Given the description of an element on the screen output the (x, y) to click on. 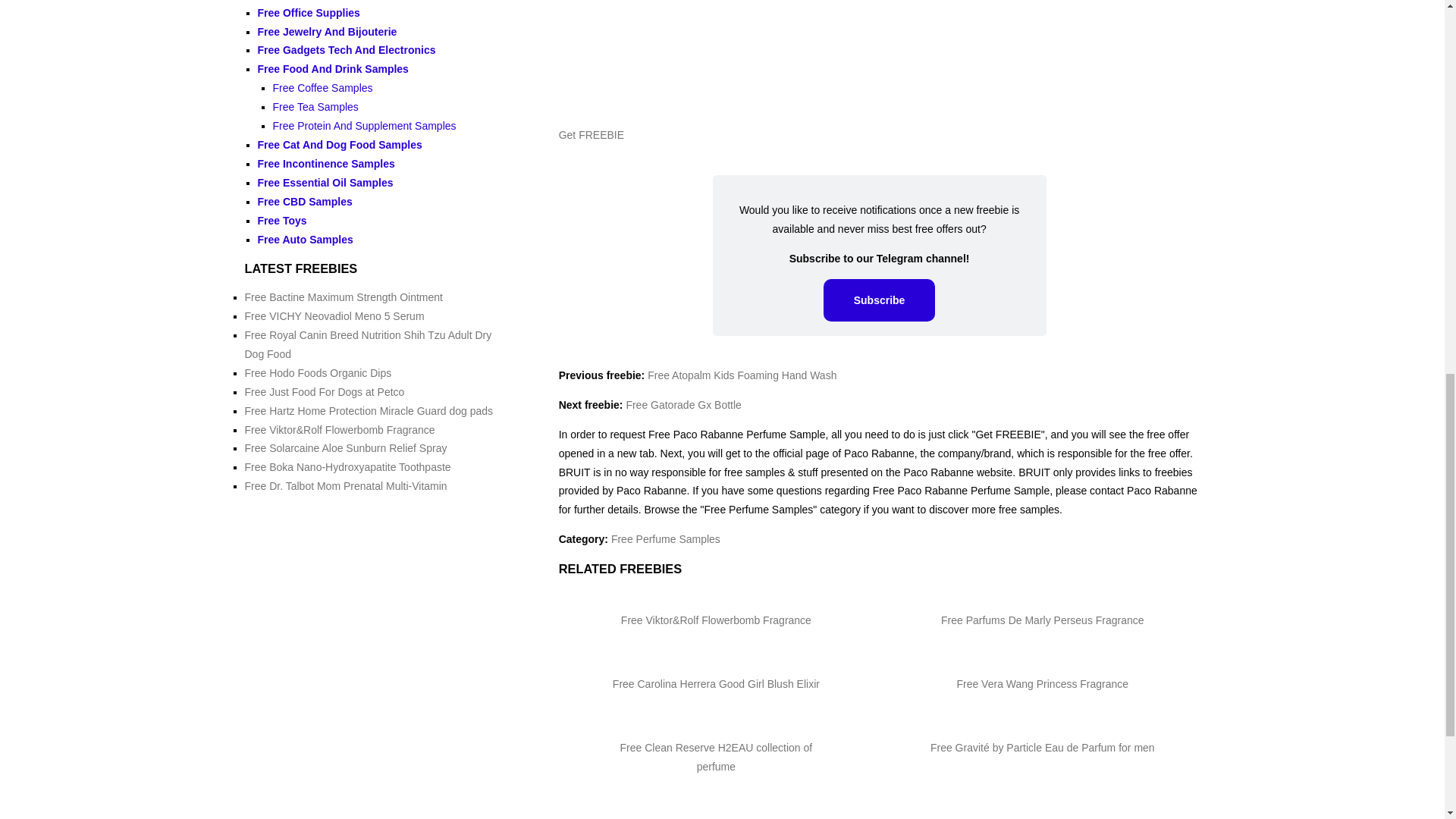
Free Clean Reserve H2EAU collection of perfume (716, 757)
Free Atopalm Kids Foaming Hand Wash (741, 375)
Free Parfums De Marly Perseus Fragrance (1042, 620)
Free Perfume Samples (665, 539)
Free Vera Wang Princess Fragrance (1042, 684)
Get FREEBIE (591, 134)
Subscribe (880, 300)
Free Carolina Herrera Good Girl Blush Elixir (715, 684)
Free Gatorade Gx Bottle (683, 404)
